Given the description of an element on the screen output the (x, y) to click on. 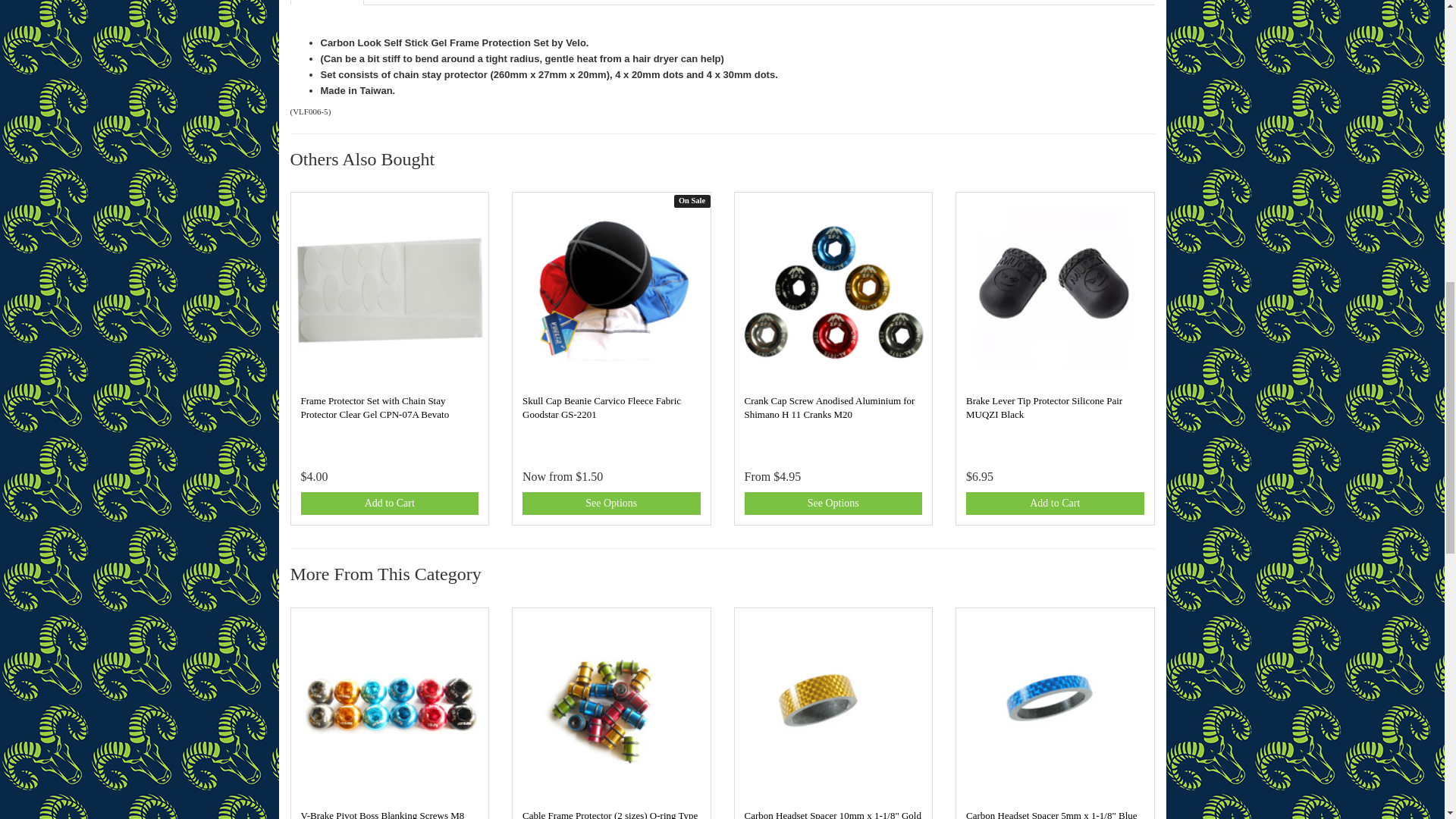
Add to Cart (1055, 503)
Skull Cap Beanie Carvico Fleece Fabric Goodstar GS-2201 (601, 407)
Add to Cart (389, 503)
Buying Options (611, 503)
Buying Options (833, 503)
Brake Lever Tip Protector Silicone Pair MUQZI Black (1044, 407)
